Given the description of an element on the screen output the (x, y) to click on. 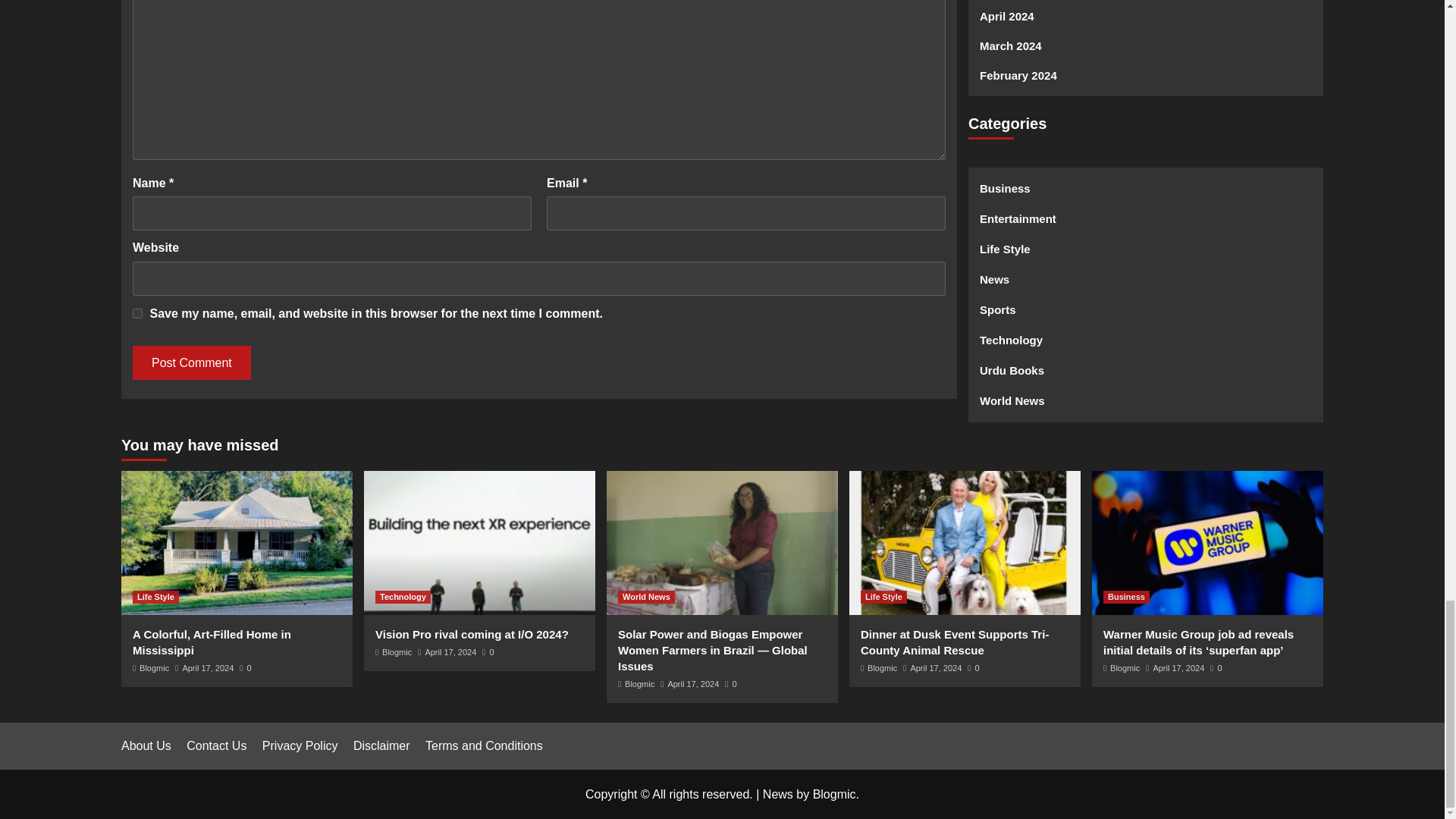
Post Comment (191, 362)
yes (137, 313)
